Given the description of an element on the screen output the (x, y) to click on. 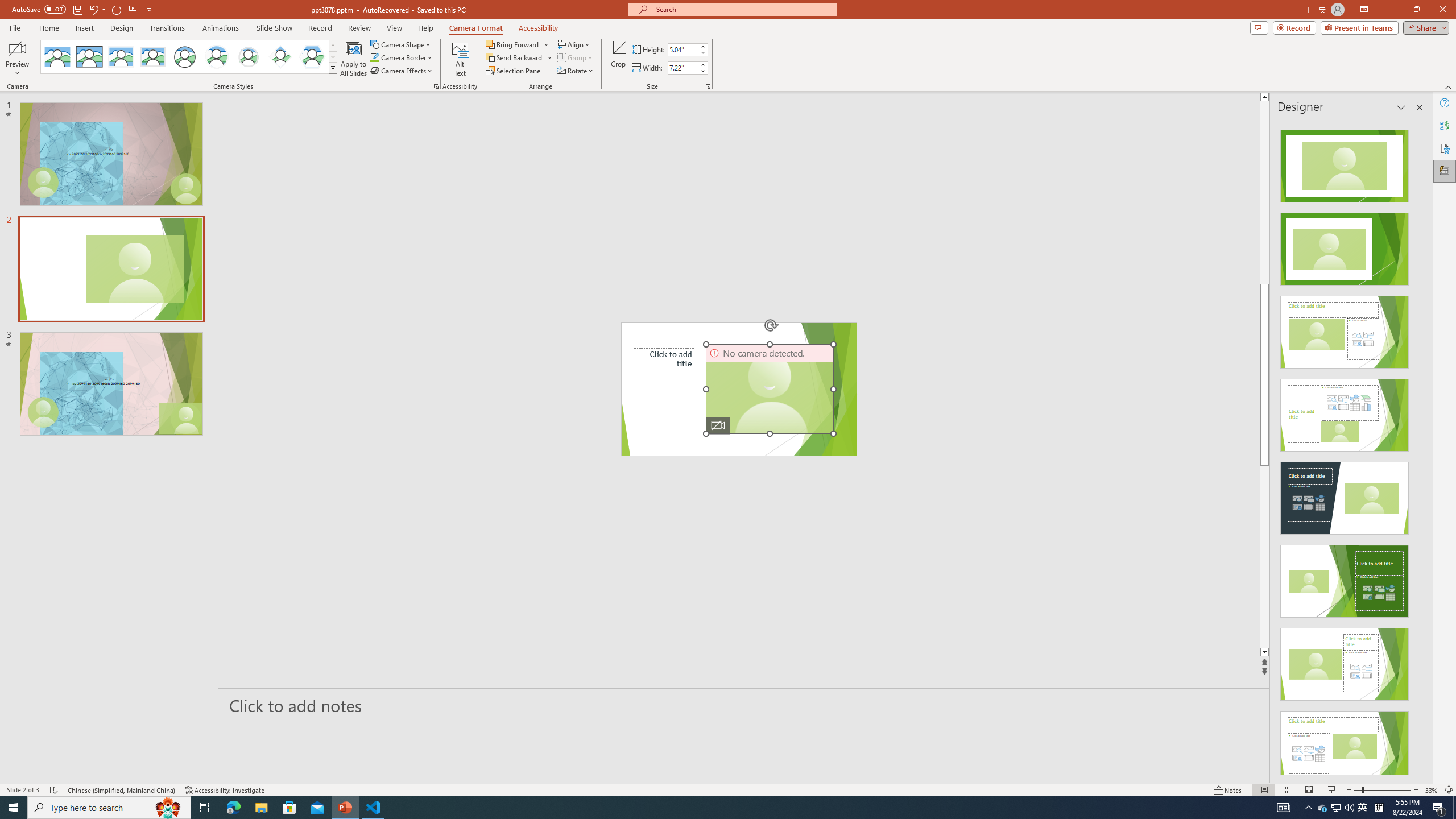
Send Backward (518, 56)
Camera Format (475, 28)
Simple Frame Circle (184, 56)
Zoom 33% (1431, 790)
Camera Shape (400, 44)
Center Shadow Rectangle (120, 56)
Crop (617, 58)
Apply to All Slides (353, 58)
